Given the description of an element on the screen output the (x, y) to click on. 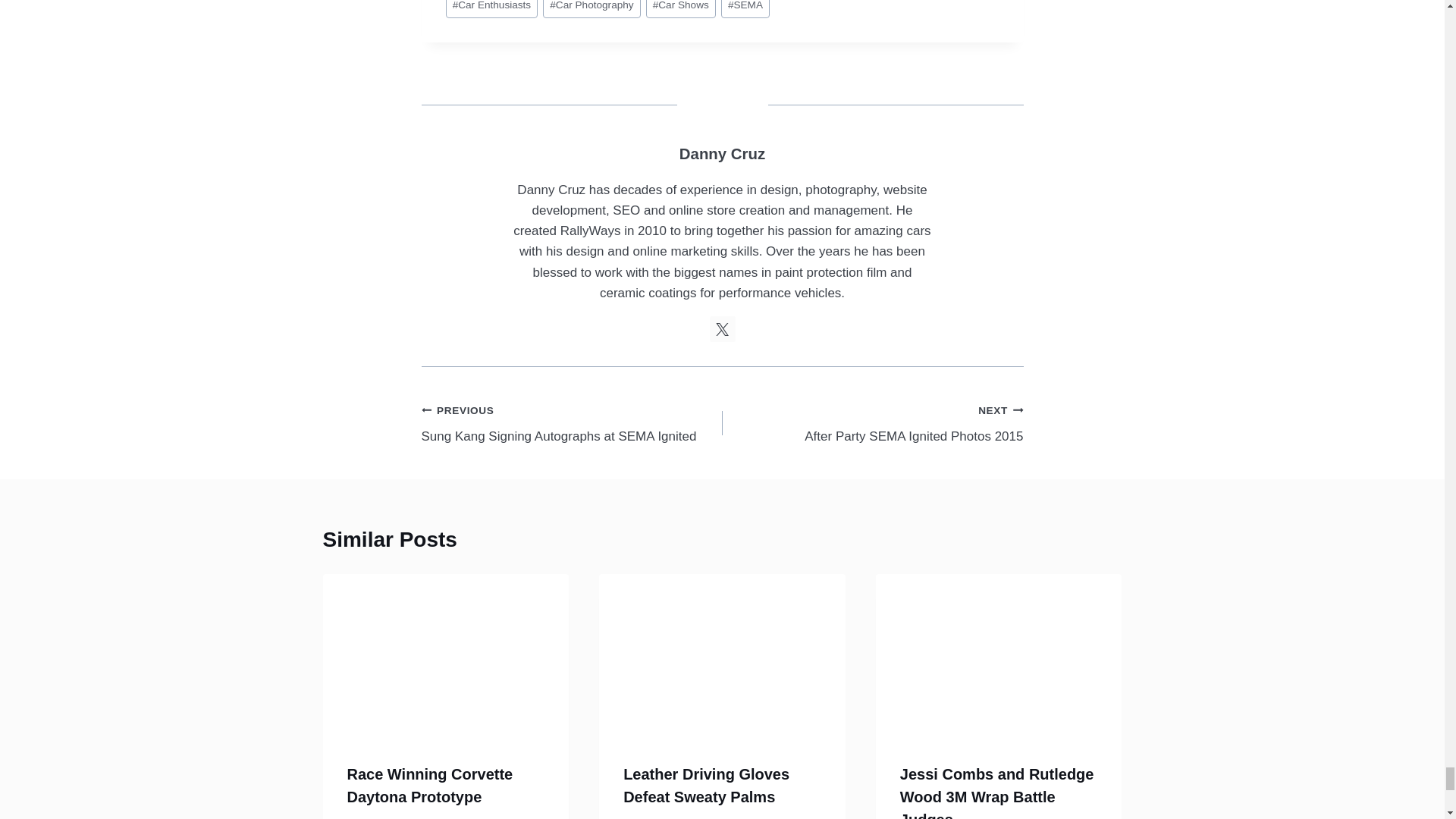
Car Shows (681, 9)
Car Photography (591, 9)
Car Enthusiasts (491, 9)
Posts by Danny Cruz (722, 153)
SEMA (745, 9)
Follow Danny Cruz on X formerly Twitter (722, 329)
